Given the description of an element on the screen output the (x, y) to click on. 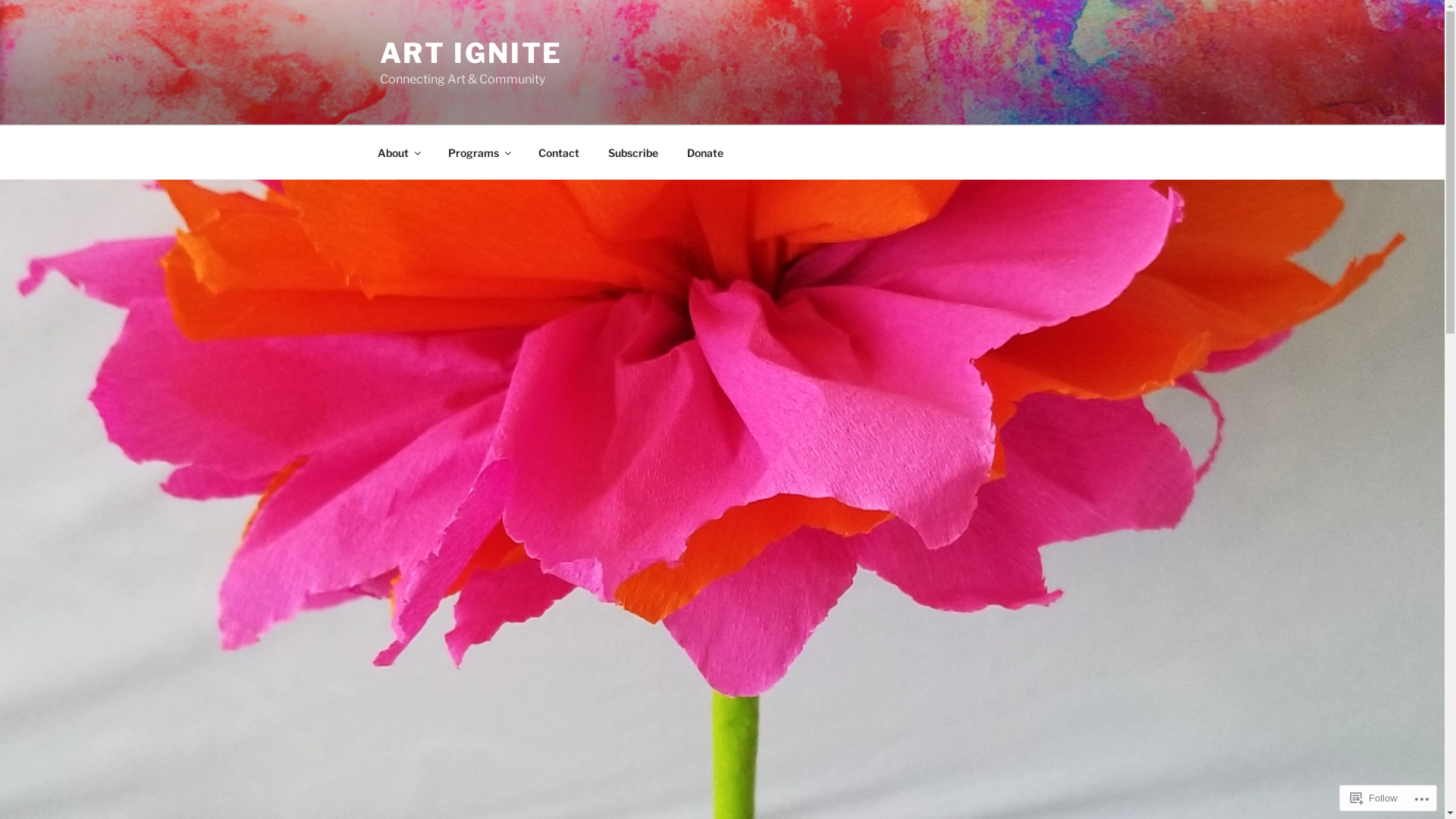
Subscribe Element type: text (632, 151)
Programs Element type: text (479, 151)
ART IGNITE Element type: text (470, 52)
Contact Element type: text (558, 151)
Donate Element type: text (704, 151)
About Element type: text (398, 151)
Follow Element type: text (1373, 797)
